Given the description of an element on the screen output the (x, y) to click on. 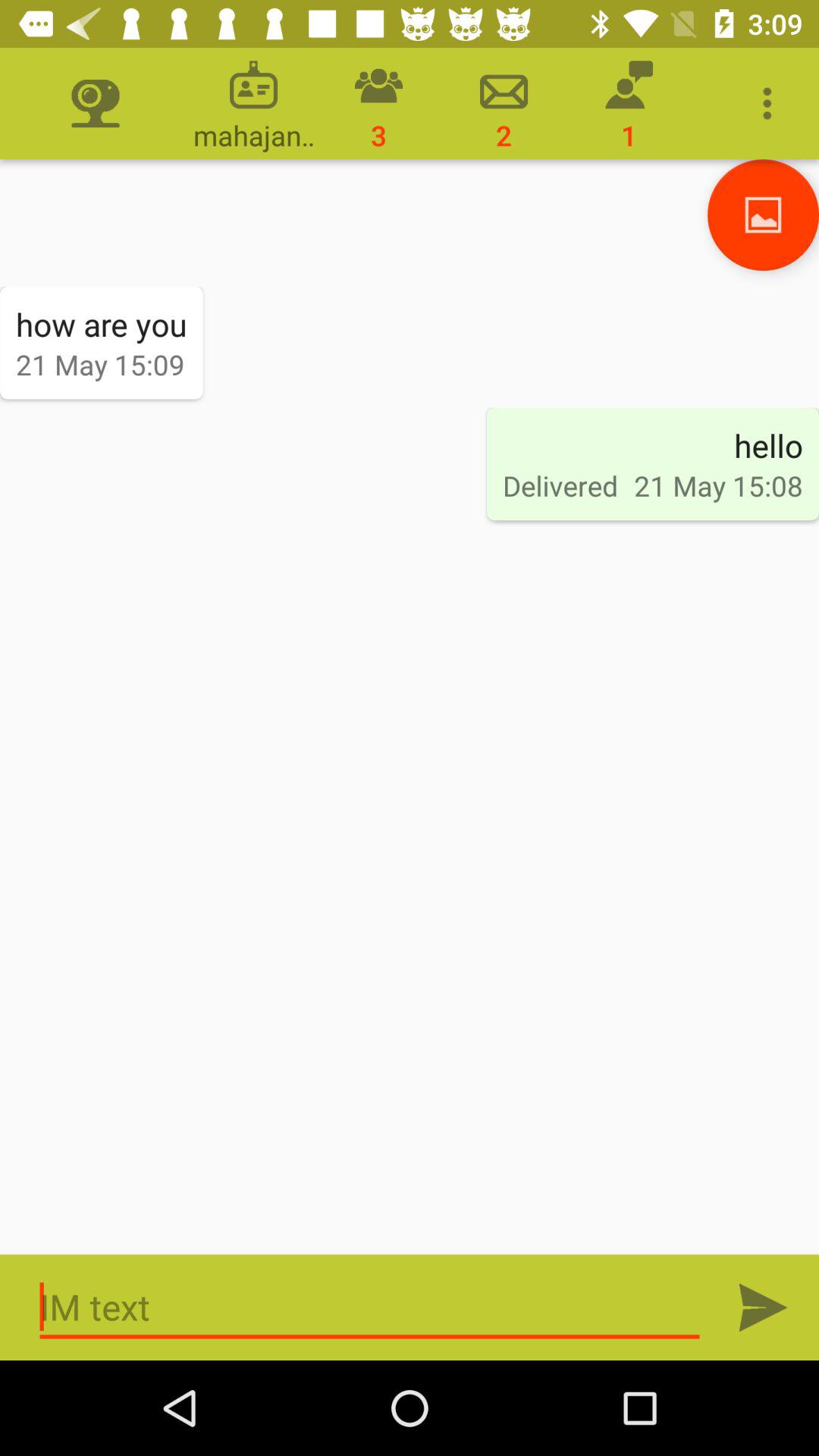
type the reply (369, 1307)
